Given the description of an element on the screen output the (x, y) to click on. 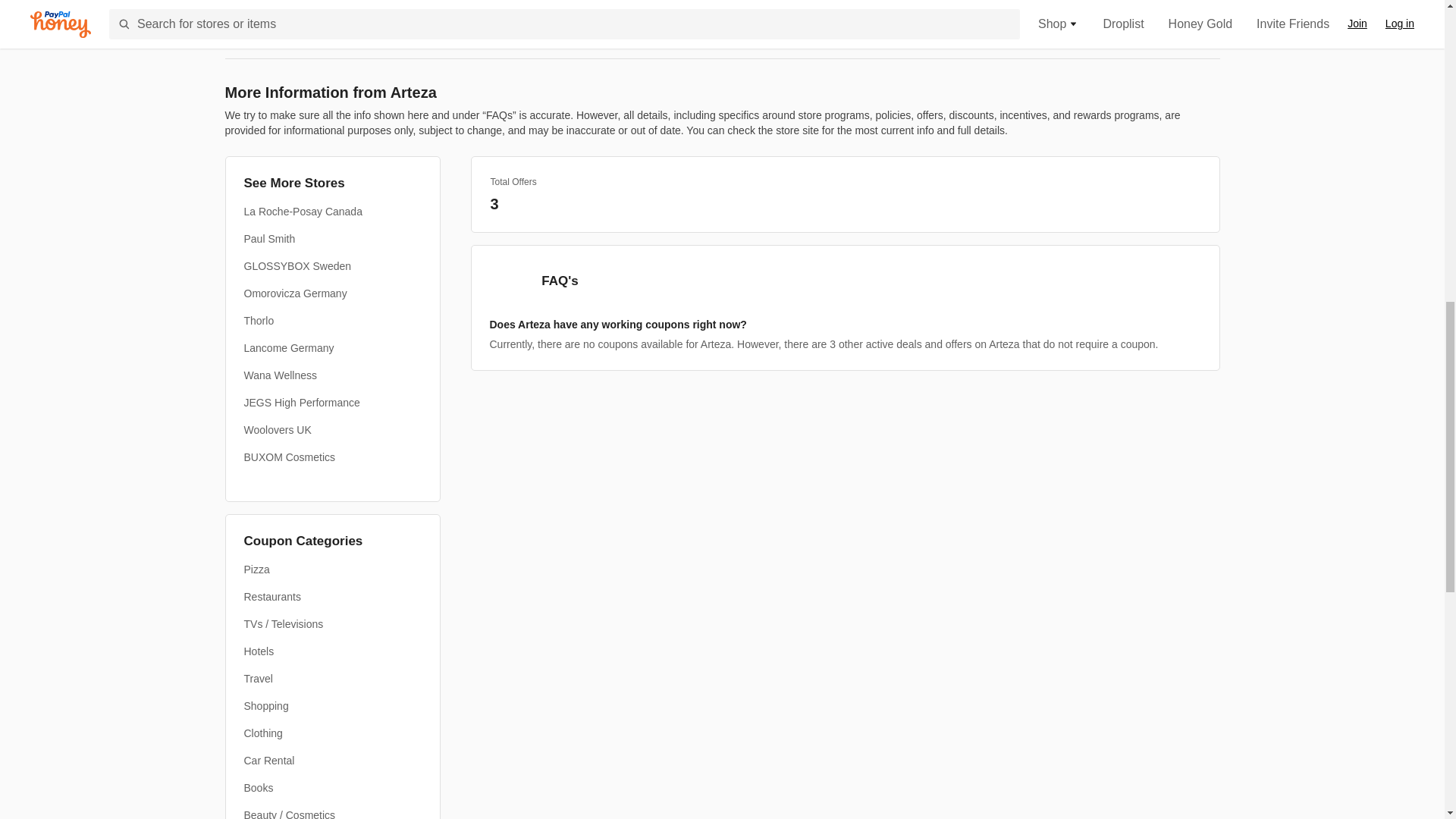
Lancome Germany (289, 347)
Woolovers UK (277, 429)
Shopping (266, 705)
Paul Smith (269, 238)
Travel (258, 678)
La Roche-Posay Canada (303, 211)
Wana Wellness (280, 375)
Pizza (256, 569)
Books (258, 787)
Hotels (259, 651)
Thorlo (259, 320)
Omorovicza Germany (295, 293)
GLOSSYBOX Sweden (298, 265)
BUXOM Cosmetics (290, 457)
JEGS High Performance (301, 402)
